Given the description of an element on the screen output the (x, y) to click on. 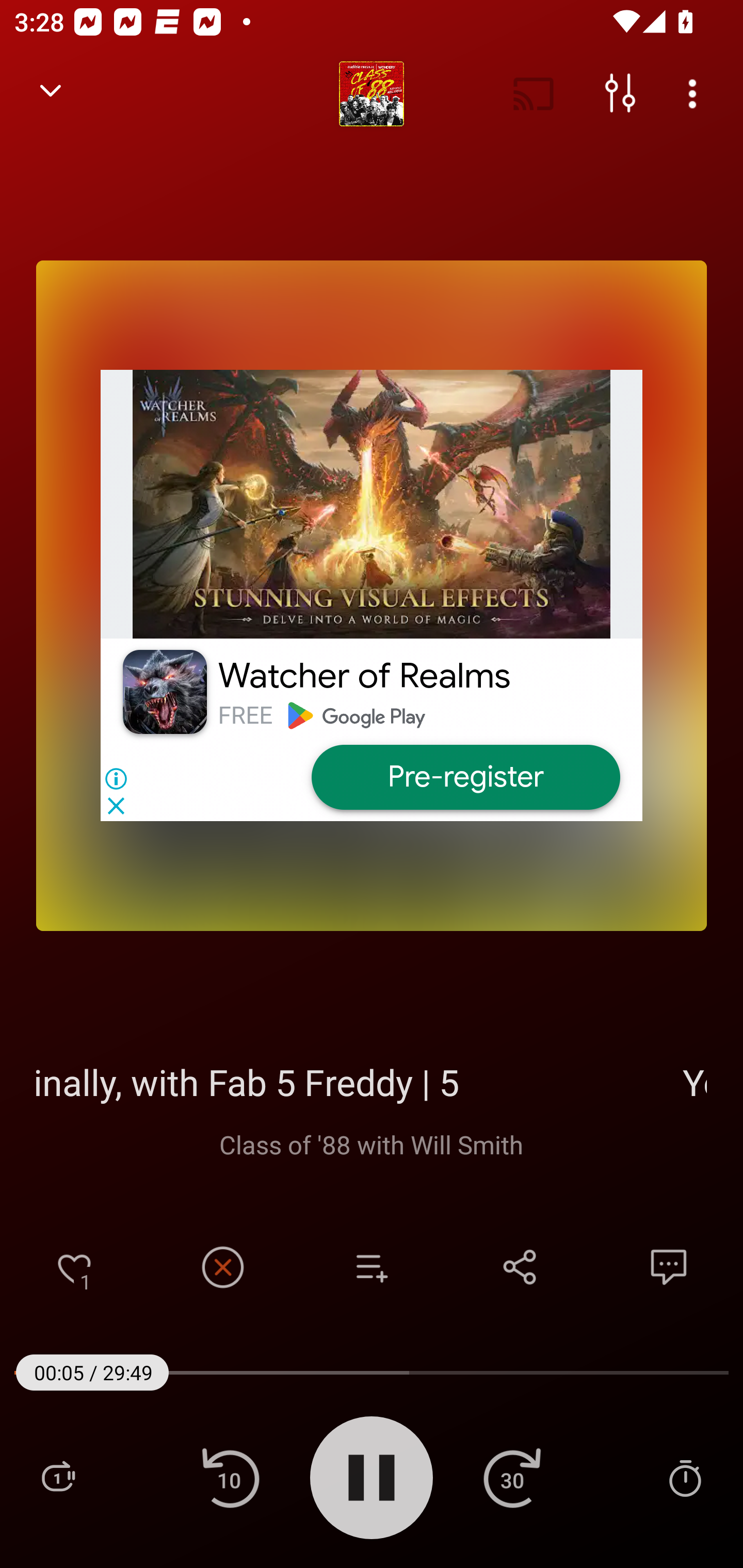
Cast. Disconnected (533, 93)
 Back (50, 94)
Watcher of Realms (364, 675)
FREE (245, 714)
Pre-register (464, 777)
Yo! MTV Raps, Finally, with Fab 5 Freddy | 5 (371, 1081)
Class of '88 with Will Smith (371, 1144)
Comments (668, 1266)
Add to Favorites (73, 1266)
Add to playlist (371, 1266)
Share (519, 1266)
 Playlist (57, 1477)
Sleep Timer  (684, 1477)
